Given the description of an element on the screen output the (x, y) to click on. 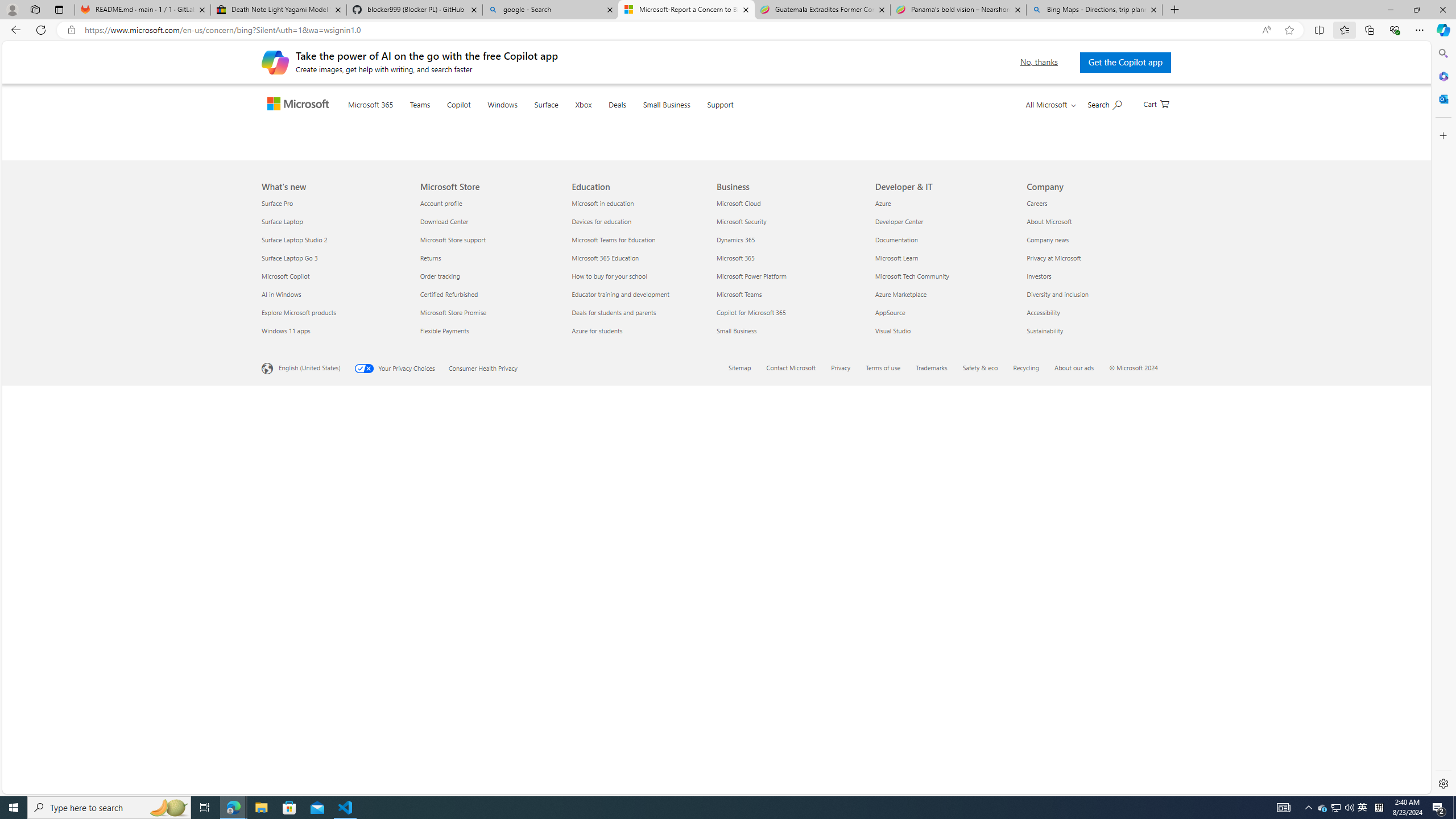
google - Search (550, 9)
Order tracking Microsoft Store (439, 675)
Microsoft Teams Business (738, 693)
Download Center (489, 621)
Diversity and inclusion Company (1057, 693)
Download Center Microsoft Store (443, 620)
Returns Microsoft Store (430, 657)
Developer Center Developer & IT (899, 620)
Microsoft Security (788, 621)
Deals (639, 118)
How to buy for your school (641, 676)
